Given the description of an element on the screen output the (x, y) to click on. 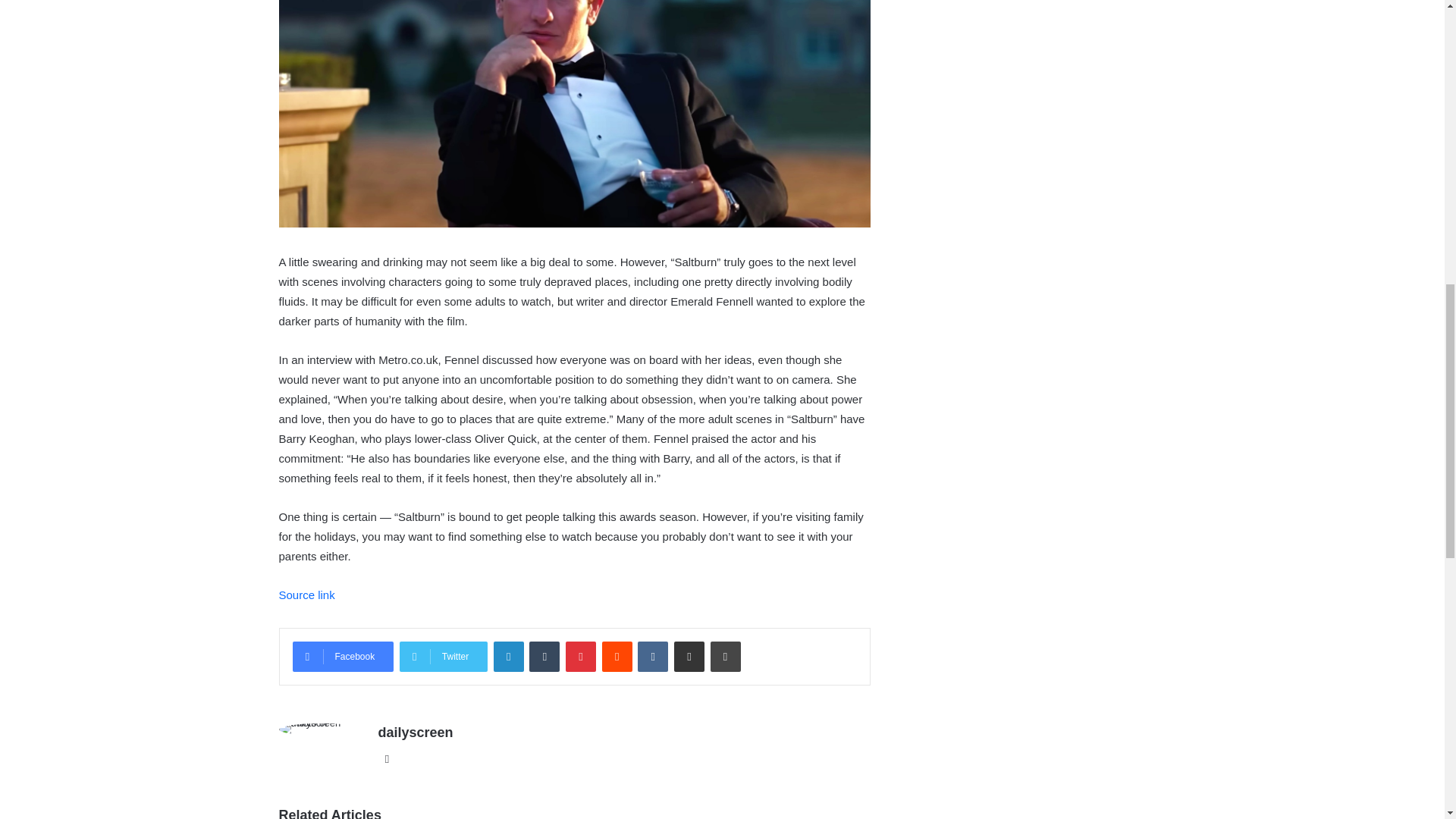
Tumblr (544, 656)
LinkedIn (508, 656)
Twitter (442, 656)
LinkedIn (508, 656)
VKontakte (652, 656)
Twitter (442, 656)
Facebook (343, 656)
Source link (306, 594)
Tumblr (544, 656)
Facebook (343, 656)
